Given the description of an element on the screen output the (x, y) to click on. 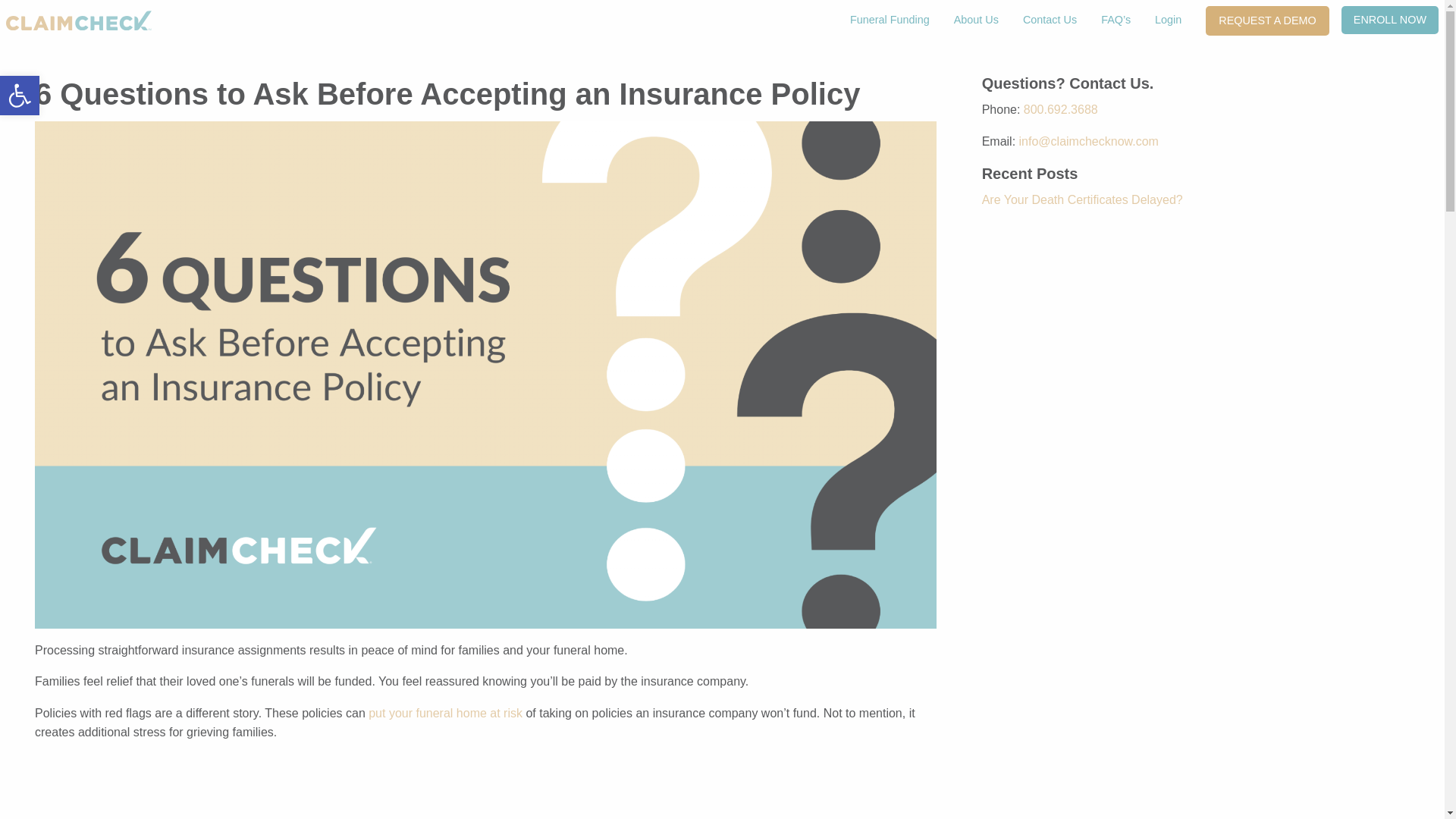
Accessibility Tools (19, 95)
Funeral Funding (19, 95)
Accessibility Tools (890, 19)
Contact Us (19, 95)
REQUEST A DEMO (1049, 19)
put your funeral home at risk (1266, 20)
Login (445, 712)
Are Your Death Certificates Delayed? (1167, 19)
About Us (1081, 199)
ENROLL NOW (976, 19)
800.692.3688 (1389, 19)
